Given the description of an element on the screen output the (x, y) to click on. 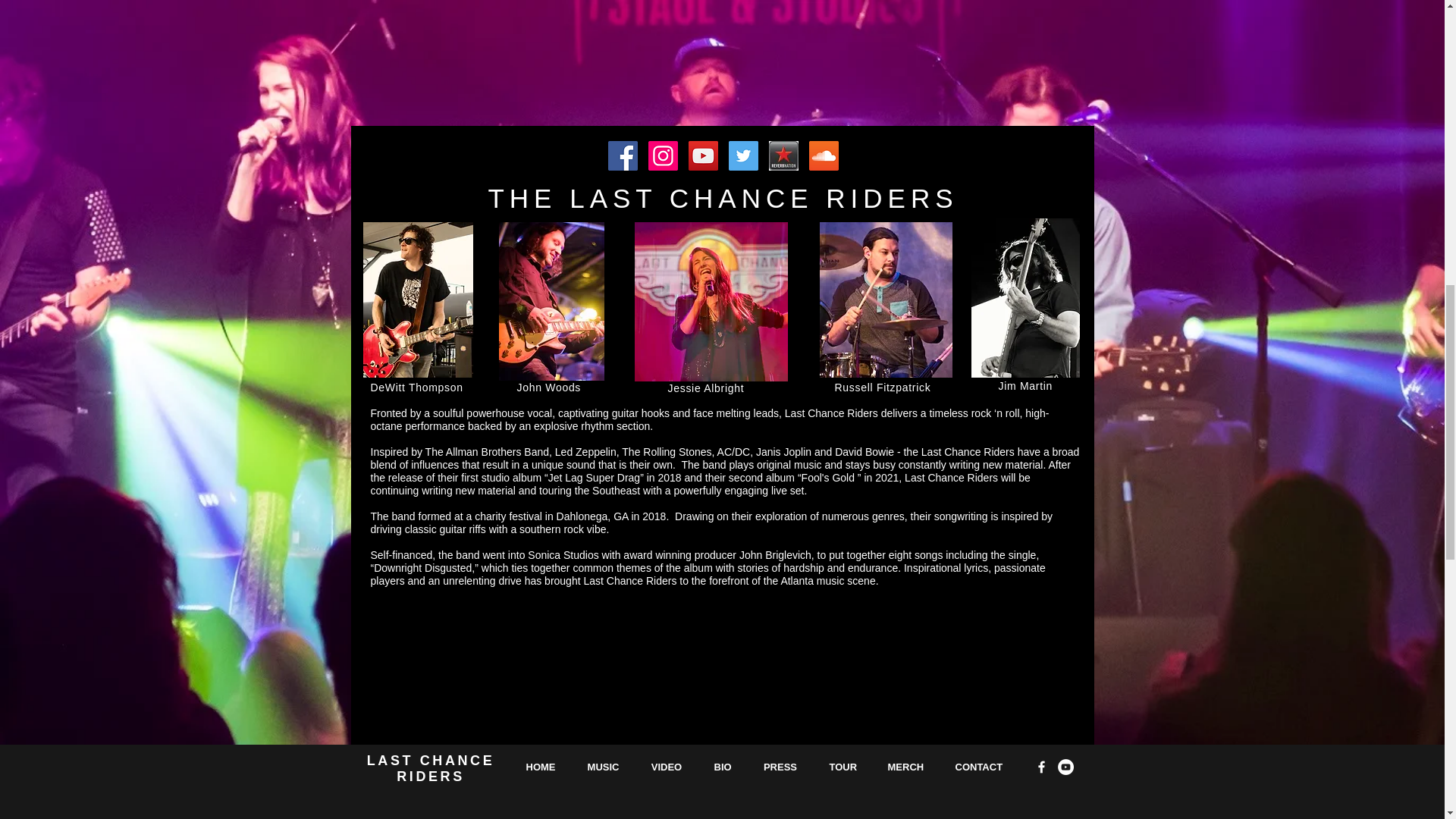
External YouTube (709, 50)
